Given the description of an element on the screen output the (x, y) to click on. 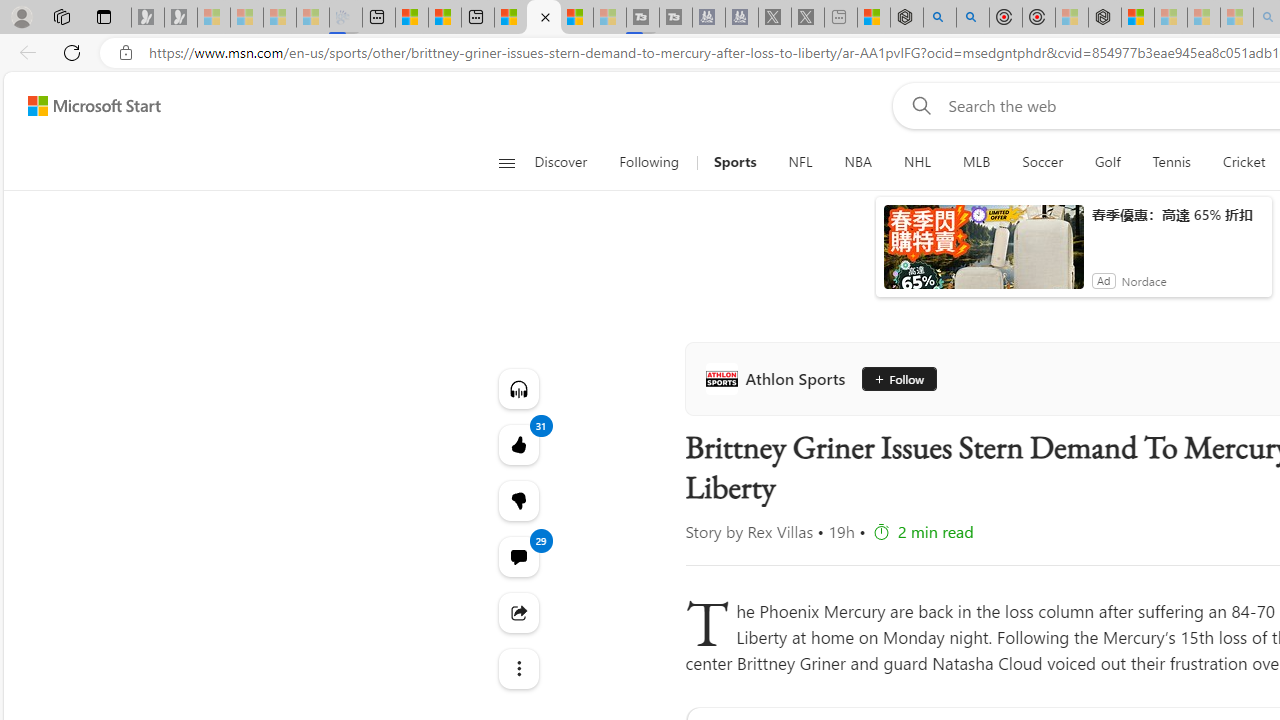
anim-content (983, 255)
Refresh (72, 52)
Wildlife - MSN (873, 17)
Microsoft Start (94, 105)
Class: button-glyph (505, 162)
See more (517, 668)
Discover (568, 162)
NBA (858, 162)
NBA (857, 162)
Nordace - Summer Adventures 2024 (906, 17)
MLB (976, 162)
Listen to this article (517, 388)
See more (517, 668)
